Given the description of an element on the screen output the (x, y) to click on. 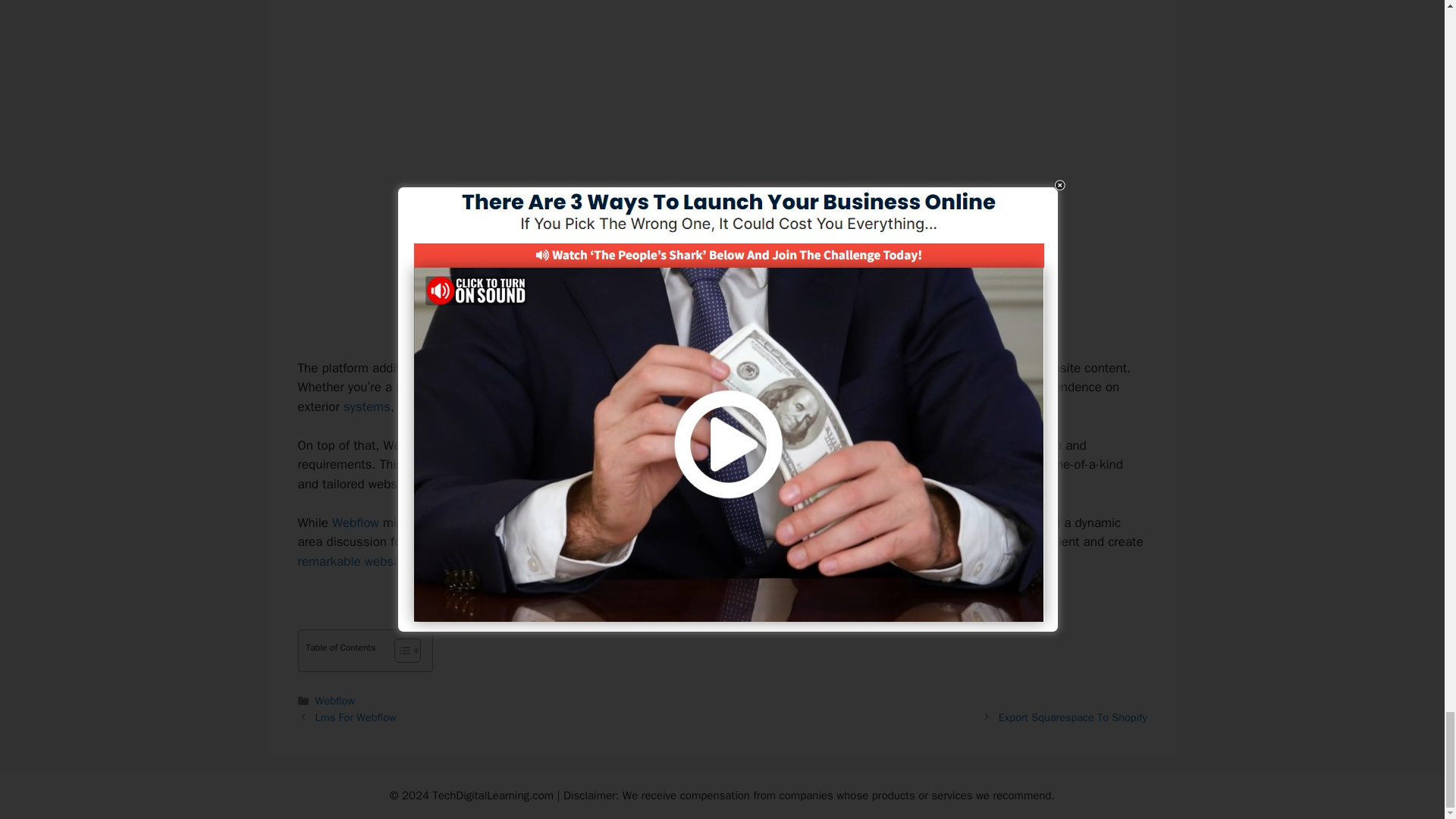
systems (366, 406)
remarkable websites (355, 561)
Webflow (354, 522)
Lms For Webflow (355, 716)
Webflow (335, 700)
